Given the description of an element on the screen output the (x, y) to click on. 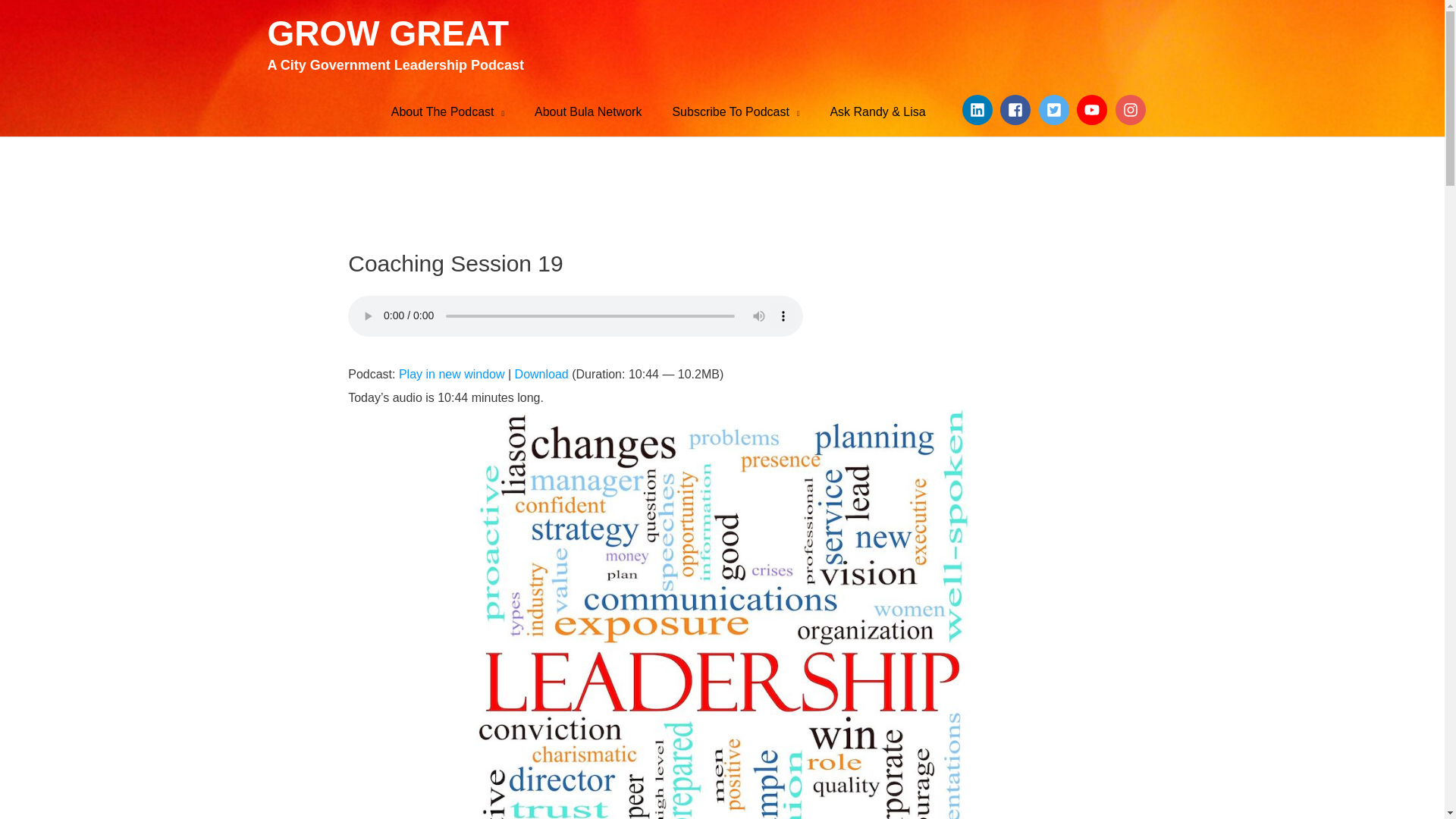
Download (542, 373)
About Bula Network (587, 111)
Download (542, 373)
GROW GREAT (387, 33)
Play in new window (451, 373)
Play in new window (451, 373)
About The Podcast (447, 111)
Subscribe To Podcast (734, 111)
